Given the description of an element on the screen output the (x, y) to click on. 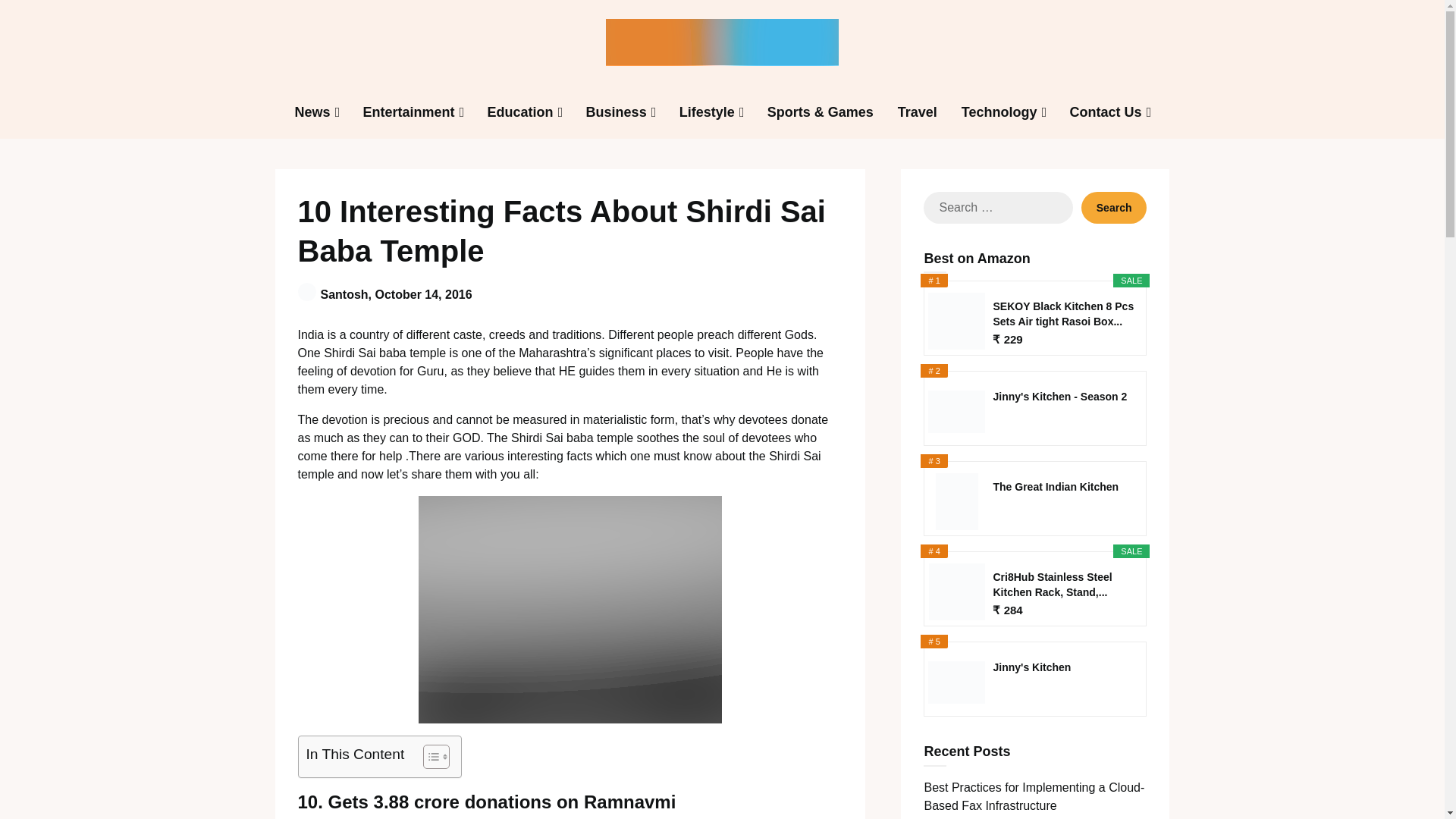
Search (1114, 207)
Contact Us (1105, 112)
Business (616, 112)
Travel (917, 112)
Entertainment (408, 112)
Search (1114, 207)
Lifestyle (706, 112)
News (312, 112)
Education (521, 112)
Technology (999, 112)
